Given the description of an element on the screen output the (x, y) to click on. 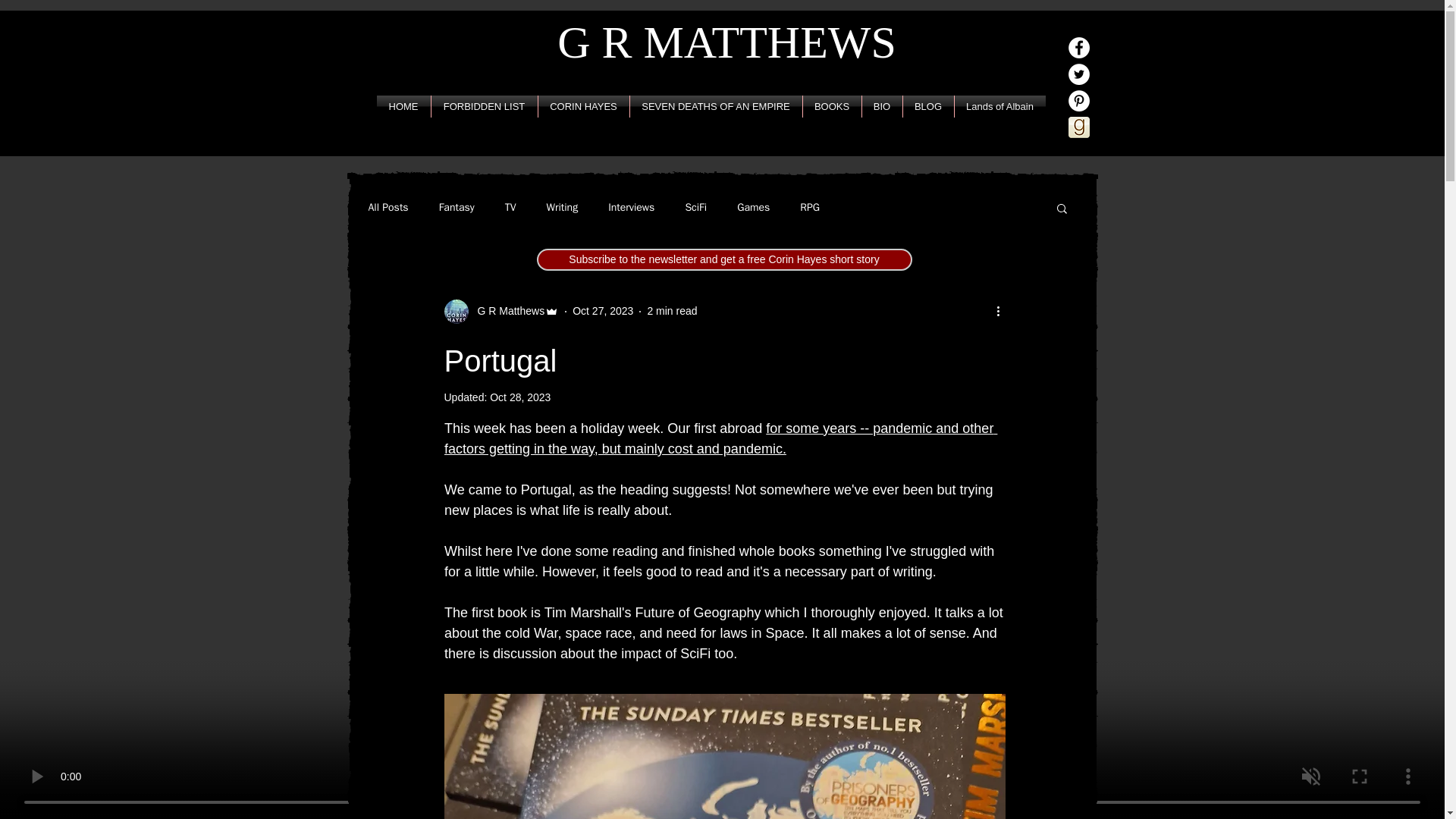
HOME (402, 106)
All Posts (388, 207)
BIO (881, 106)
FORBIDDEN LIST (483, 106)
2 min read (671, 310)
G R Matthews (506, 311)
Oct 28, 2023 (519, 397)
BOOKS (831, 106)
BLOG (927, 106)
Interviews (630, 207)
CORIN HAYES (583, 106)
Writing (562, 207)
SEVEN DEATHS OF AN EMPIRE (715, 106)
Oct 27, 2023 (602, 310)
Fantasy (456, 207)
